Given the description of an element on the screen output the (x, y) to click on. 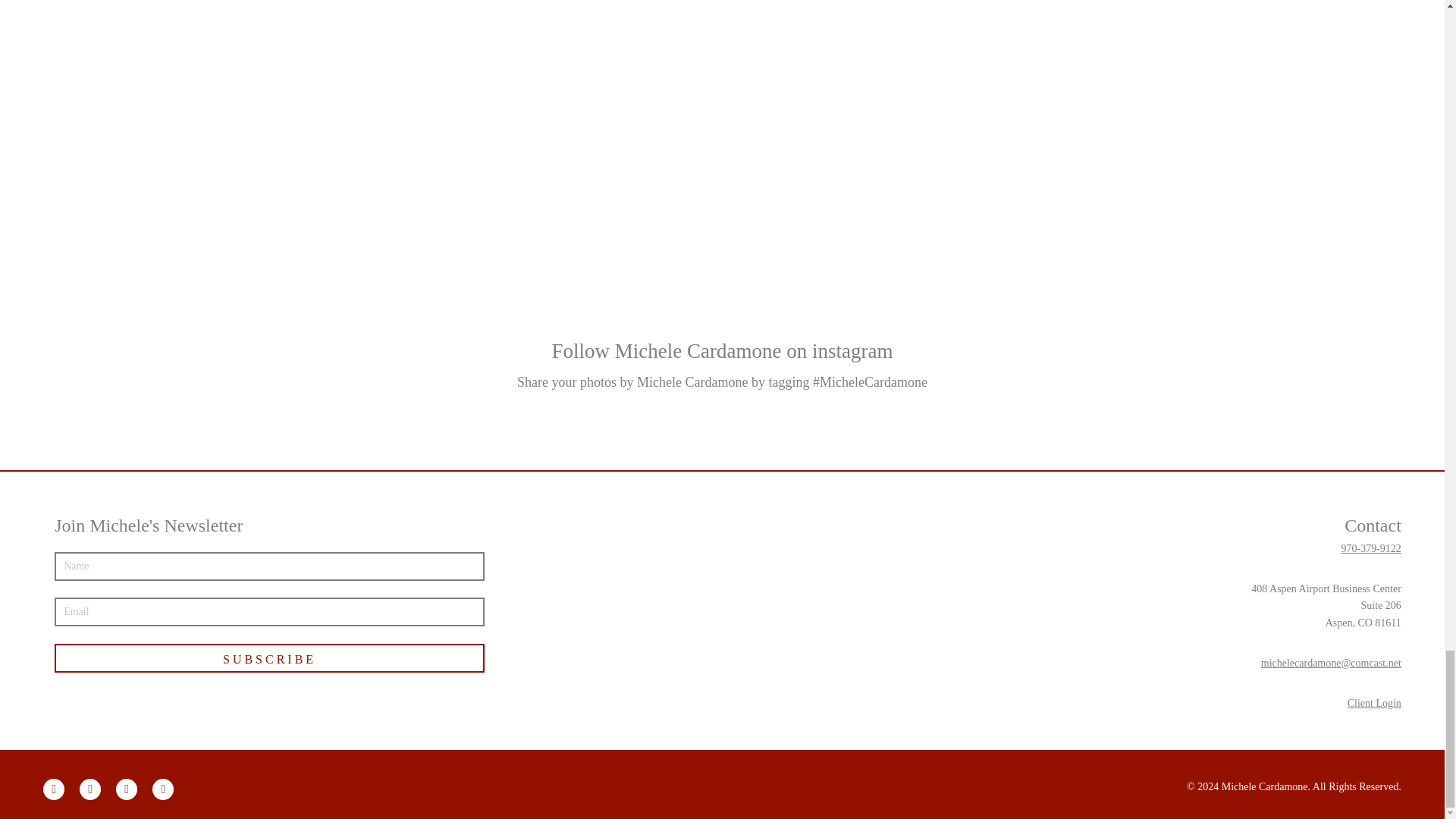
970-379-9122 (1370, 548)
Client Login (1374, 703)
SUBSCRIBE (269, 657)
